Given the description of an element on the screen output the (x, y) to click on. 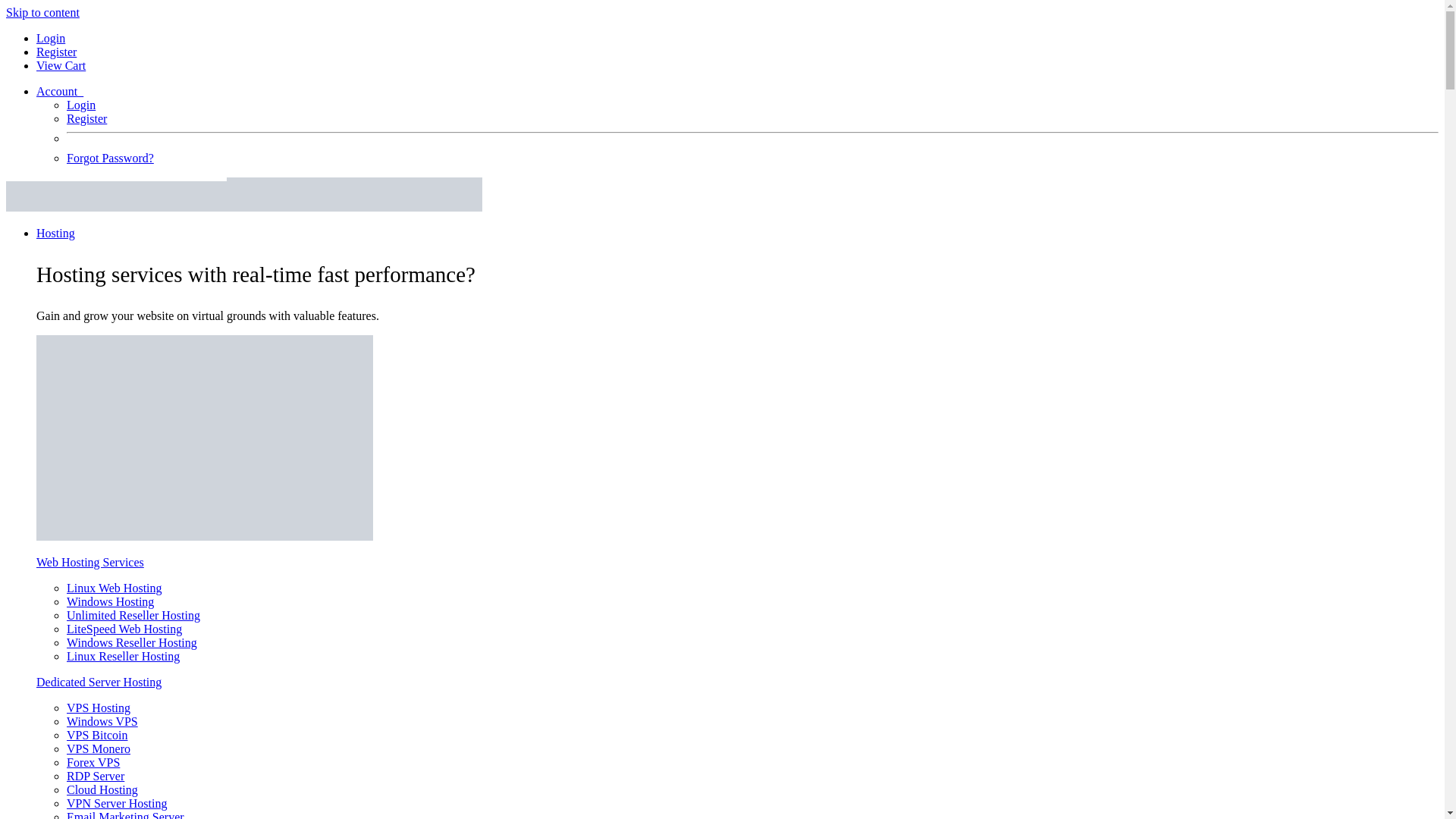
VPS Bitcoin (97, 735)
Windows Reseller Hosting (131, 642)
VPN Server Hosting (116, 802)
Email Marketing Server (125, 814)
Account   (59, 91)
VPS Monero (98, 748)
Linux Web Hosting (113, 587)
Web Hosting Services (90, 562)
Unlimited Reseller Hosting (133, 615)
Register (56, 51)
Windows Hosting (110, 601)
Dedicated Server Hosting (98, 681)
View Cart (60, 65)
Skip to content (42, 11)
Forgot Password? (110, 157)
